Given the description of an element on the screen output the (x, y) to click on. 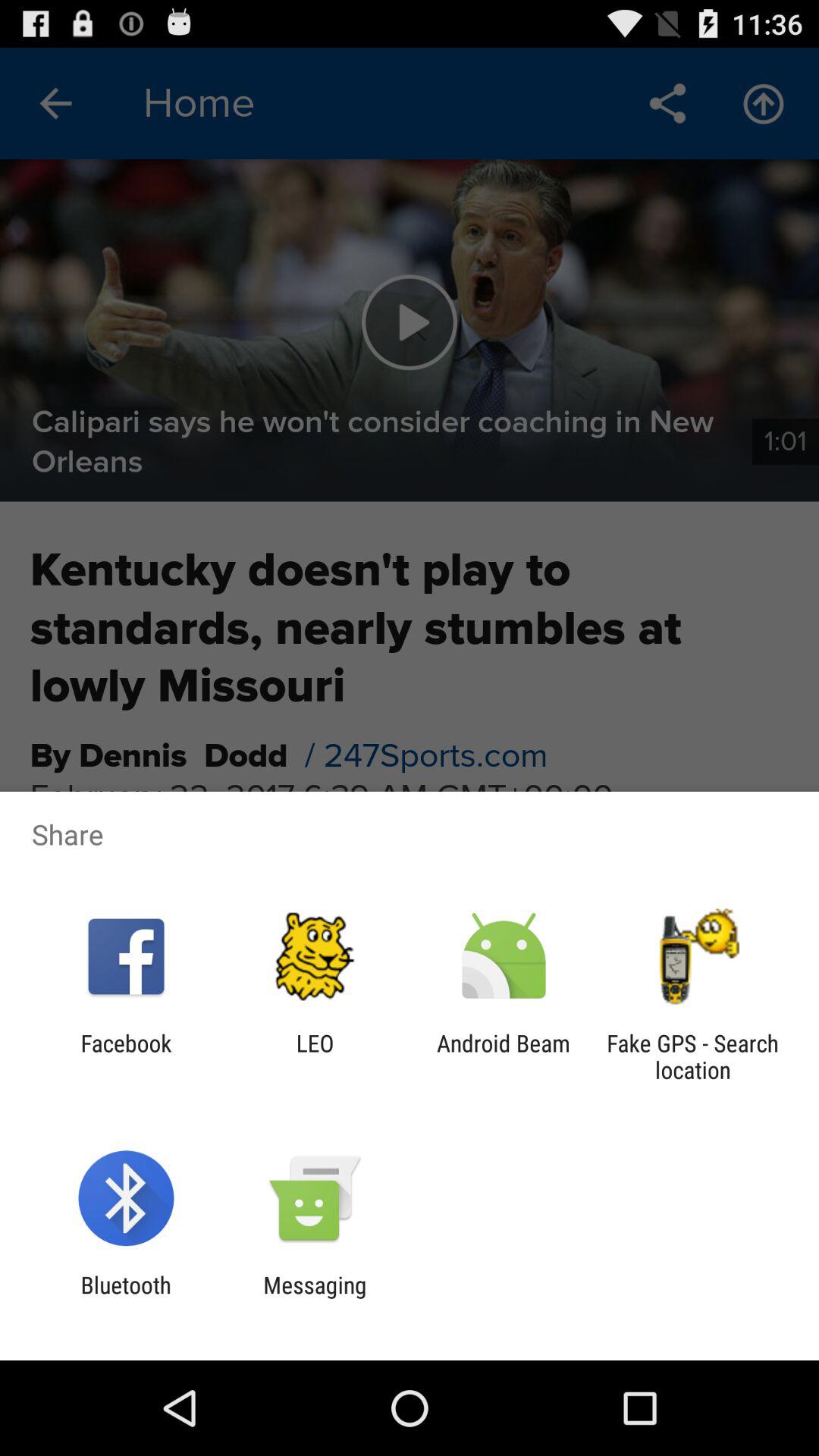
tap icon to the right of leo icon (503, 1056)
